Given the description of an element on the screen output the (x, y) to click on. 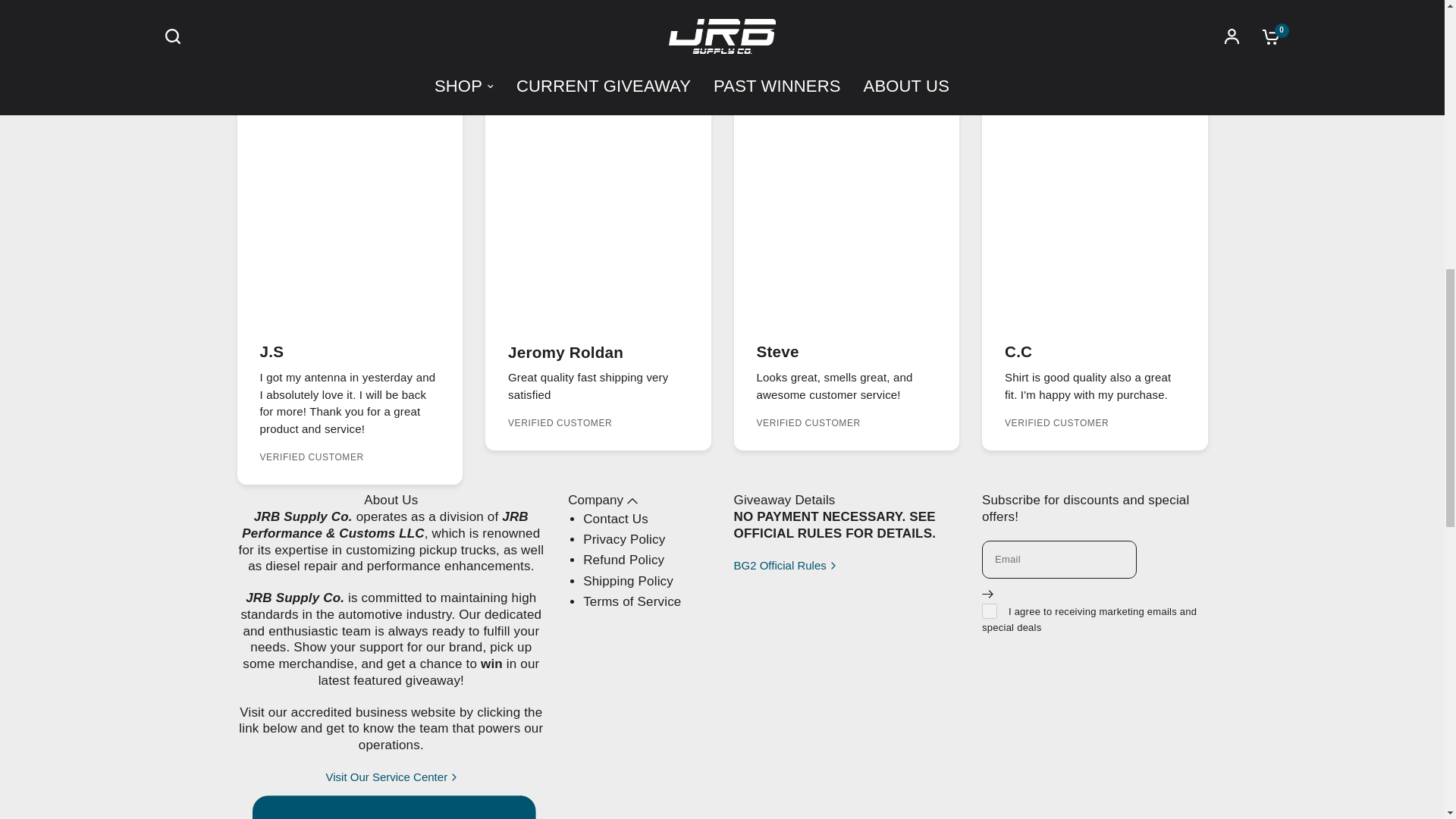
Privacy Policy (624, 539)
Visit Our Service Center (391, 776)
Contact Us (615, 518)
Visit Our Service Center (391, 776)
Refund Policy (623, 559)
Terms of Service (632, 601)
on (989, 611)
Privacy Policy (624, 539)
Shipping Policy (627, 581)
Company (602, 499)
Shipping Policy (627, 581)
Contact Us (615, 518)
Refund Policy (623, 559)
